Given the description of an element on the screen output the (x, y) to click on. 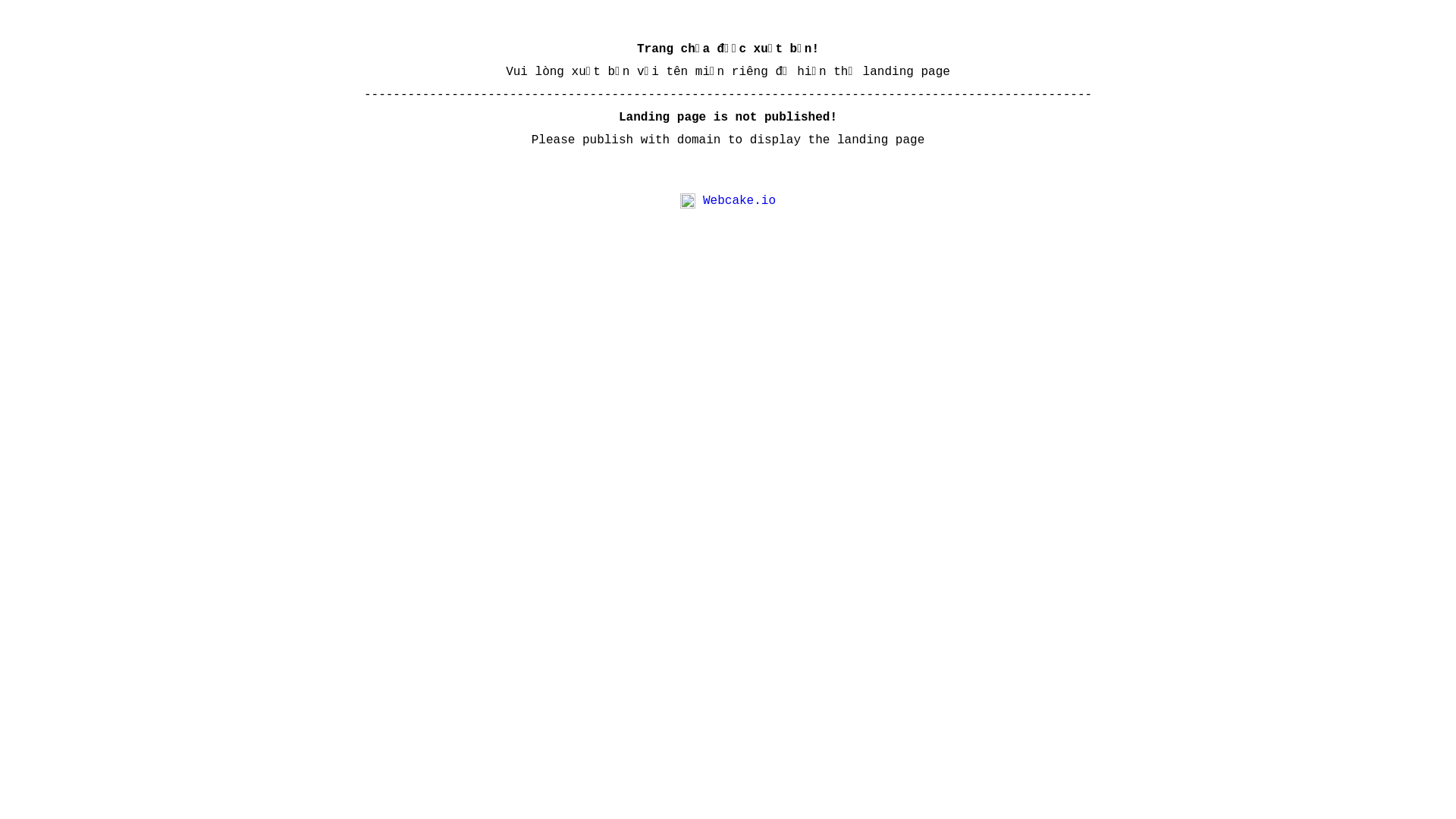
Webcake.io Element type: text (738, 200)
